Given the description of an element on the screen output the (x, y) to click on. 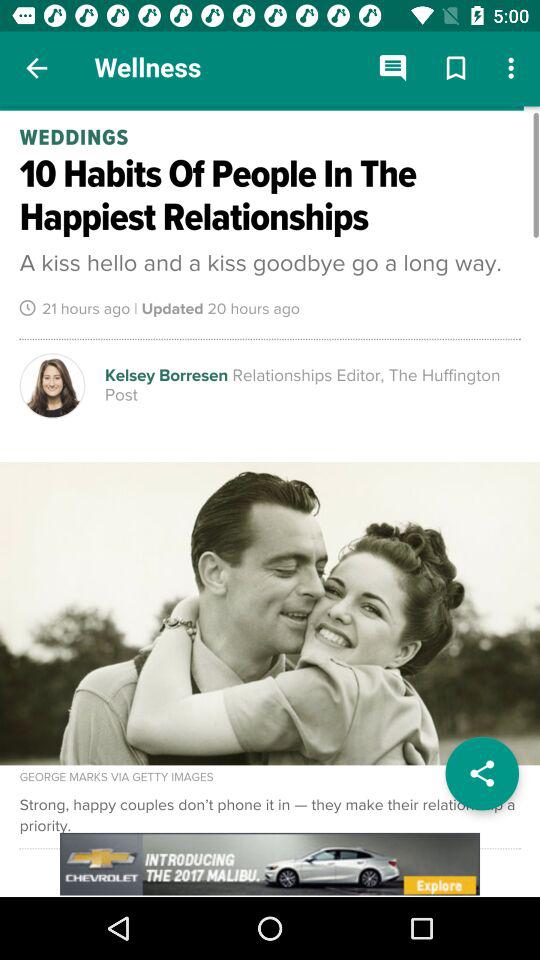
advertisement (270, 863)
